Given the description of an element on the screen output the (x, y) to click on. 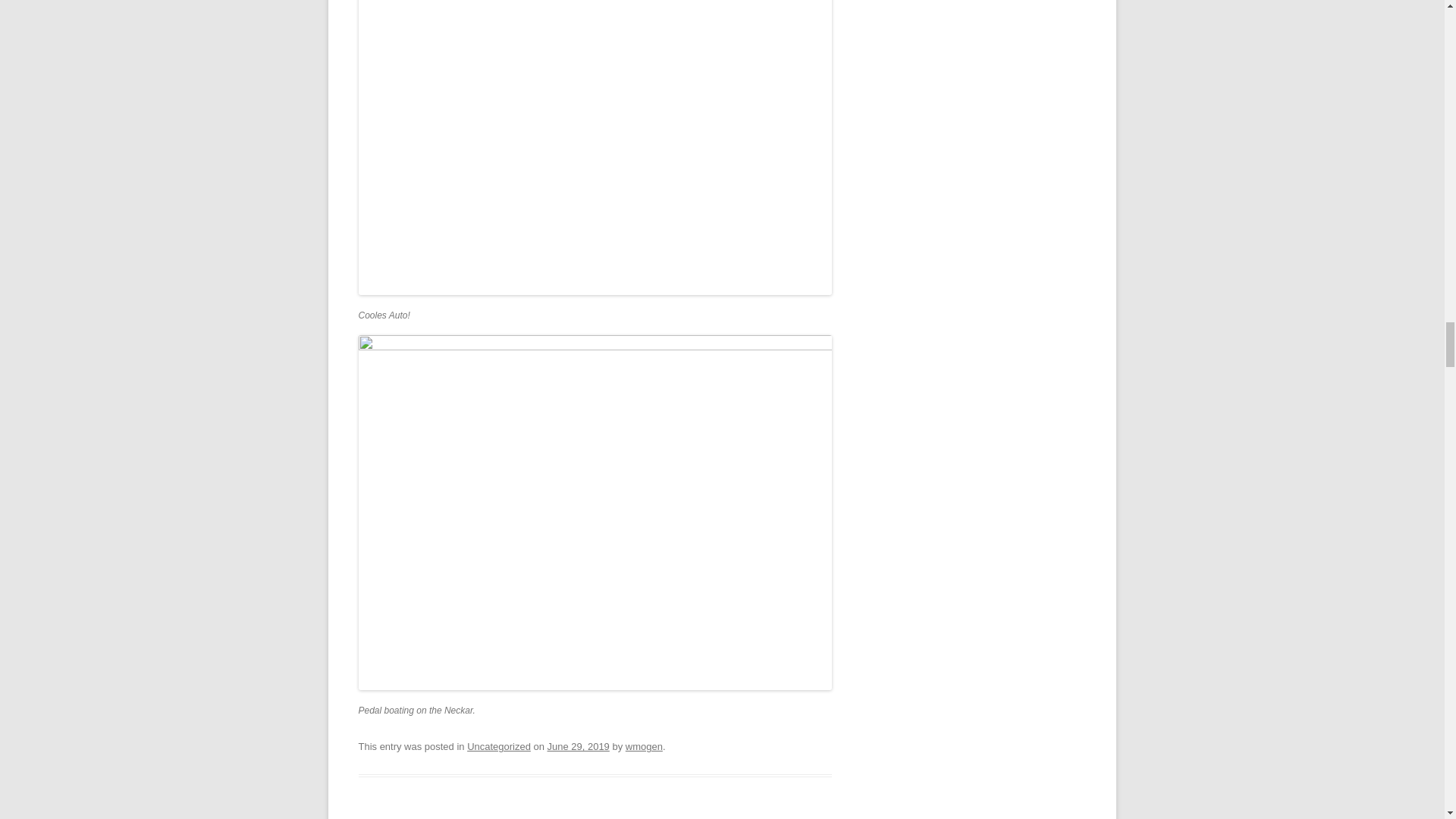
View all posts by wmogen (644, 746)
7:40 am (578, 746)
Uncategorized (499, 746)
June 29, 2019 (578, 746)
wmogen (644, 746)
